Given the description of an element on the screen output the (x, y) to click on. 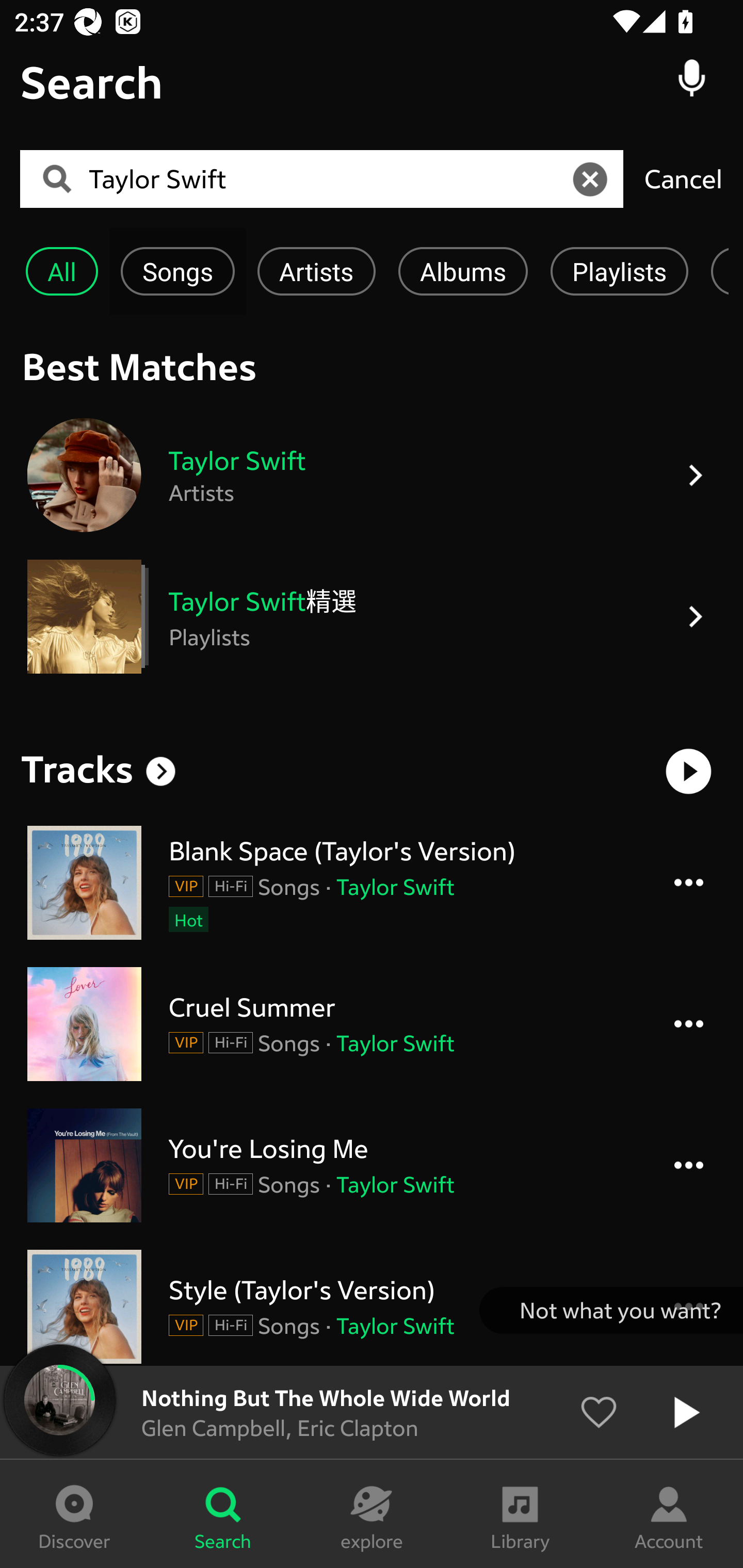
Cancel (683, 178)
Taylor Swift (327, 179)
Songs (177, 271)
Artists (316, 271)
Albums (463, 271)
Playlists (619, 271)
Best Matches (371, 365)
Taylor Swift Artists (371, 474)
Taylor Swift精選 Playlists (371, 616)
Tracks (77, 768)
Cruel Summer VIP Hi-Fi Songs · Taylor Swift (371, 1023)
You're Losing Me VIP Hi-Fi Songs · Taylor Swift (371, 1165)
Discover (74, 1513)
explore (371, 1513)
Library (519, 1513)
Account (668, 1513)
